Given the description of an element on the screen output the (x, y) to click on. 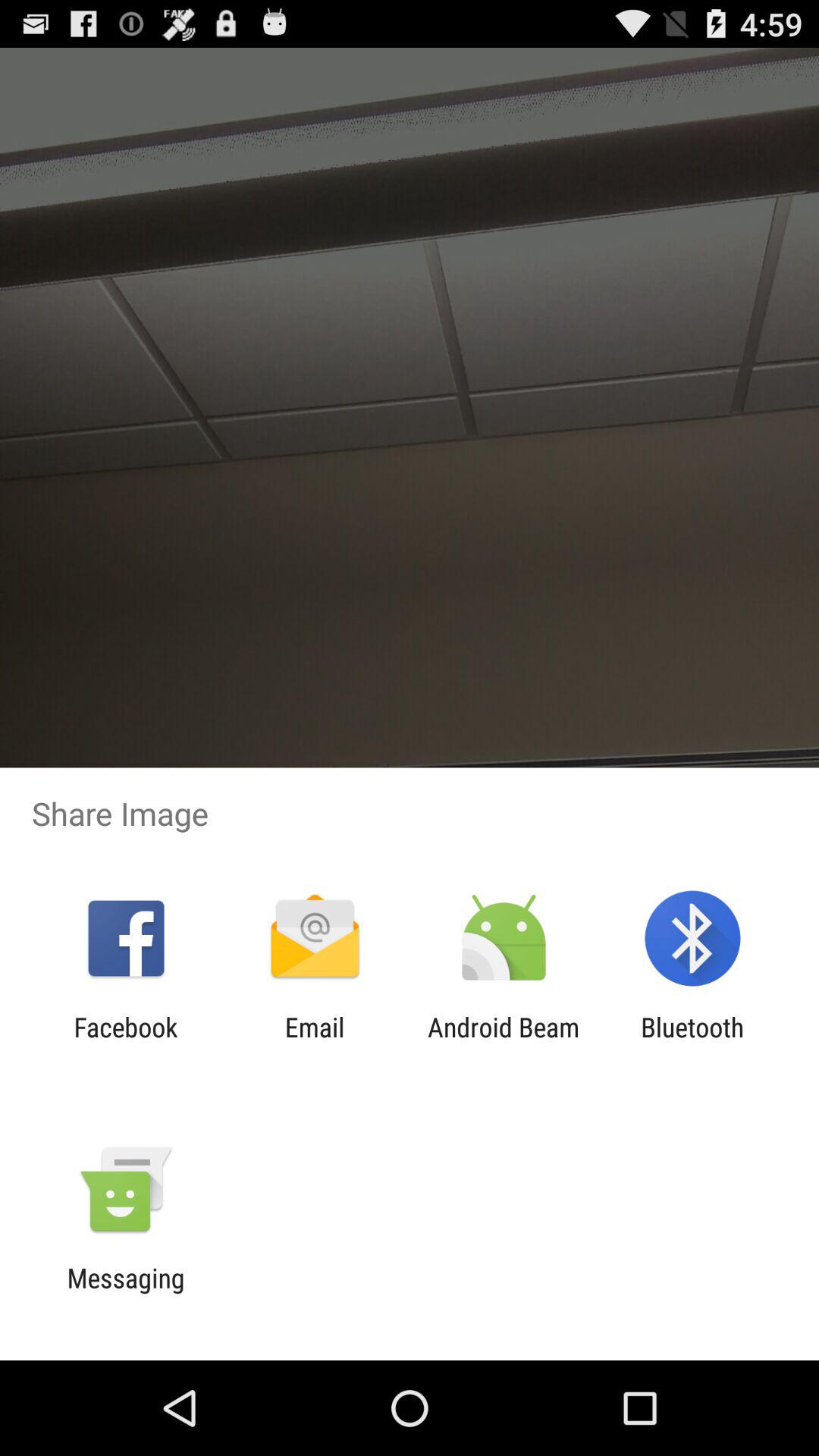
click the icon next to email item (503, 1042)
